Given the description of an element on the screen output the (x, y) to click on. 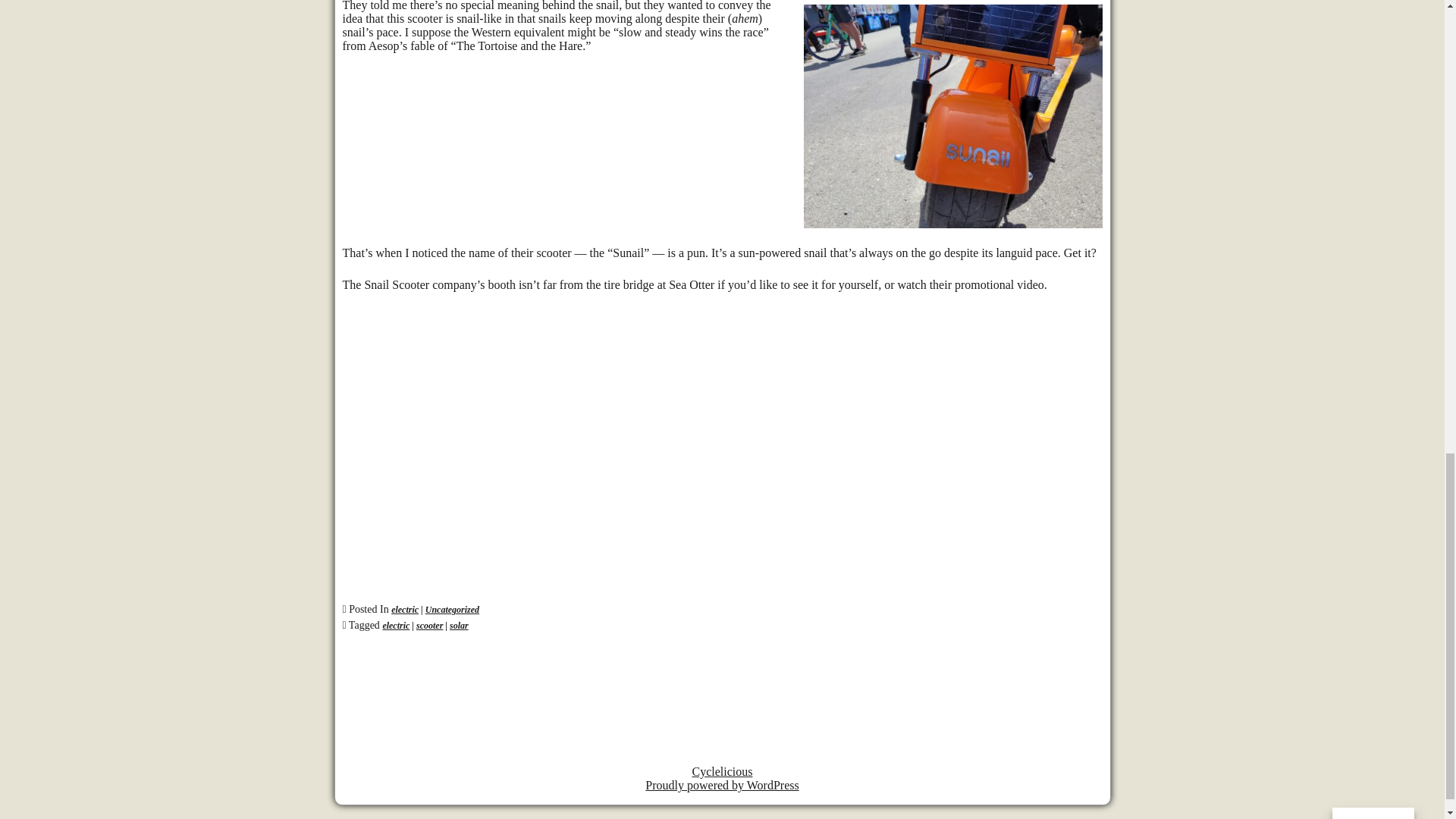
electric (395, 624)
Cyclelicious (721, 771)
solar (458, 624)
Proudly powered by WordPress (721, 784)
Uncategorized (452, 609)
electric (405, 609)
scooter (429, 624)
